Given the description of an element on the screen output the (x, y) to click on. 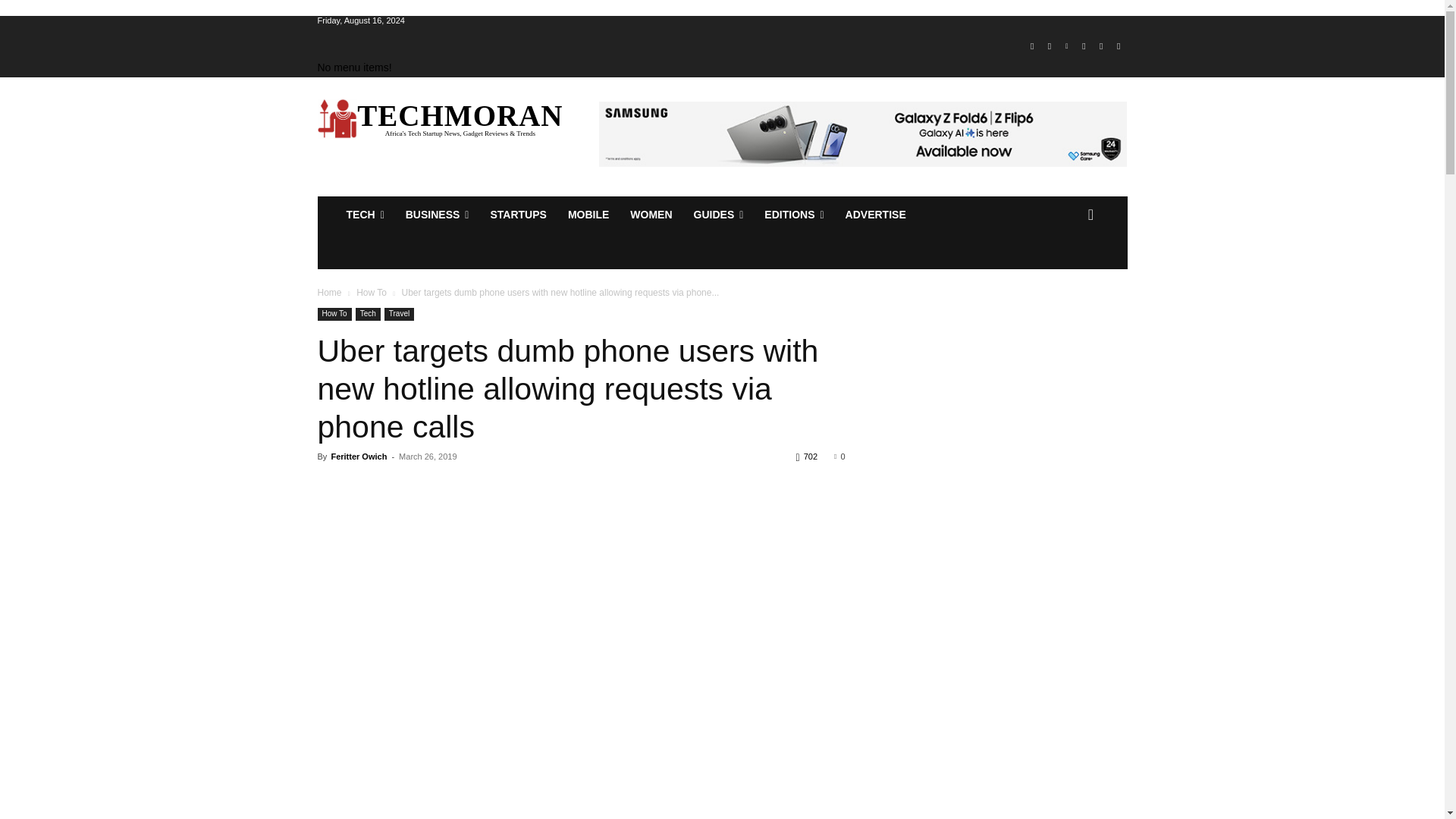
MOBILE (588, 214)
Youtube (1117, 46)
Linkedin (1066, 46)
Telegram (1084, 46)
TECH (364, 214)
WOMEN (651, 214)
GUIDES (718, 214)
View all posts in How To (371, 292)
BUSINESS (437, 214)
STARTUPS (517, 214)
